Given the description of an element on the screen output the (x, y) to click on. 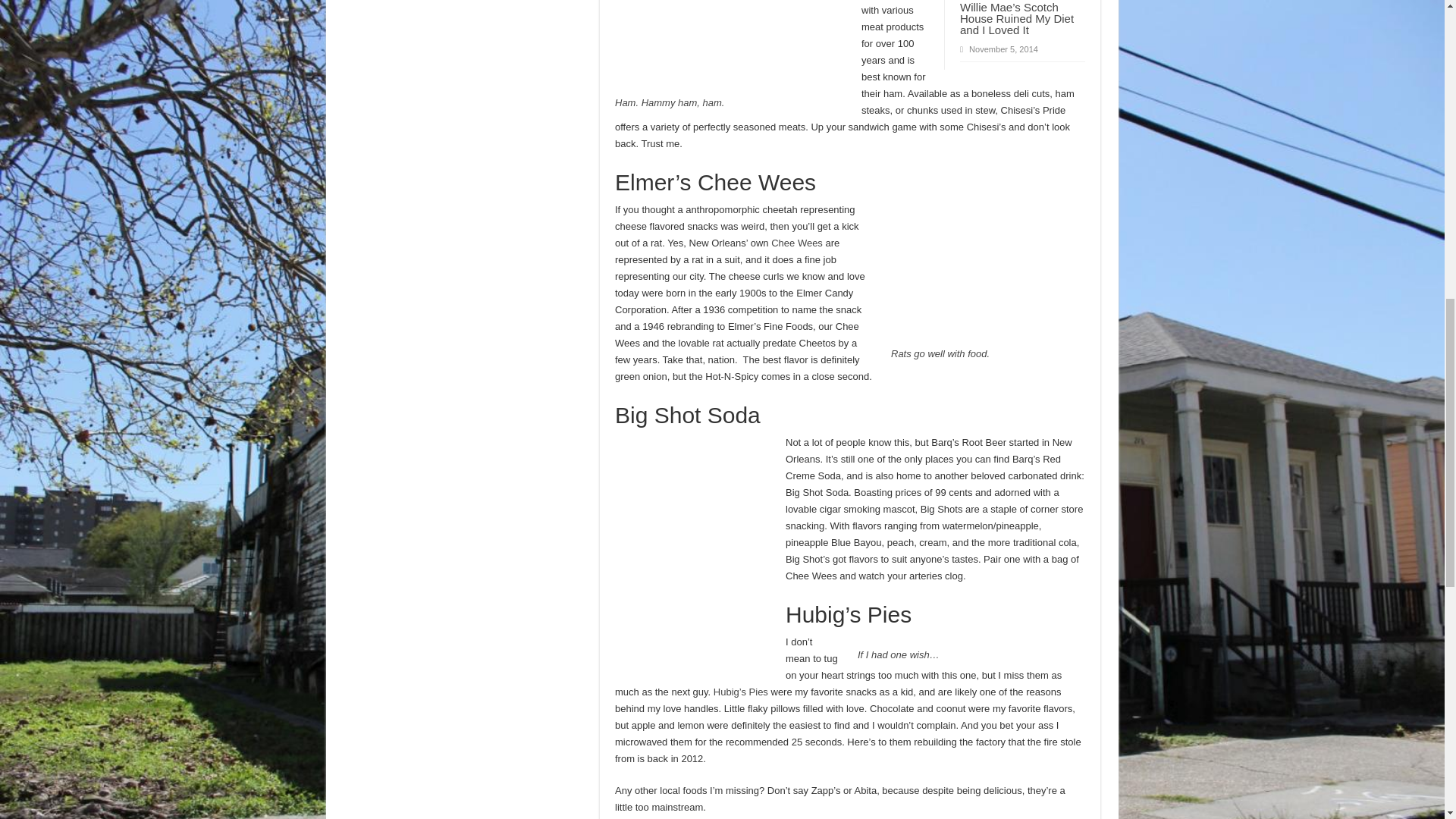
Chee Wees (796, 242)
Rats go well with food. (940, 353)
Scroll To Top (1421, 60)
Ham. Hammy ham, ham. (668, 102)
